Given the description of an element on the screen output the (x, y) to click on. 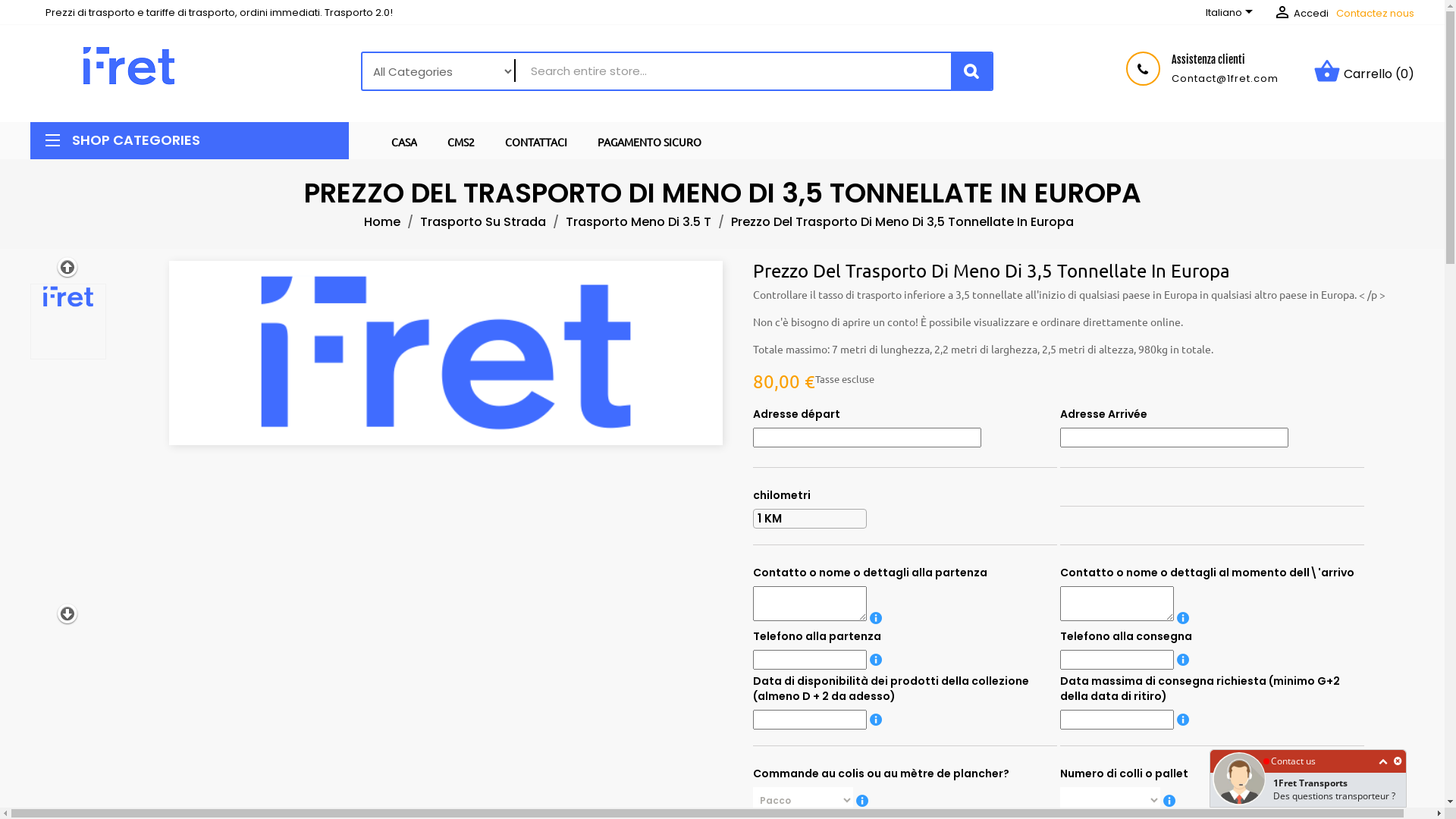
Trasporto Meno Di 3.5 T Element type: text (639, 221)
Home Element type: text (383, 221)
Prezzo Del Trasporto Di Meno Di 3,5 Tonnellate In Europa Element type: text (902, 221)
Aggiorna Element type: text (34, 9)
Contactez nous Element type: text (1375, 13)
Trasporto Su Strada Element type: text (484, 221)
PAGAMENTO SICURO Element type: text (649, 140)
CONTATTACI Element type: text (535, 140)
CMS2 Element type: text (460, 140)
CASA Element type: text (404, 140)
